Given the description of an element on the screen output the (x, y) to click on. 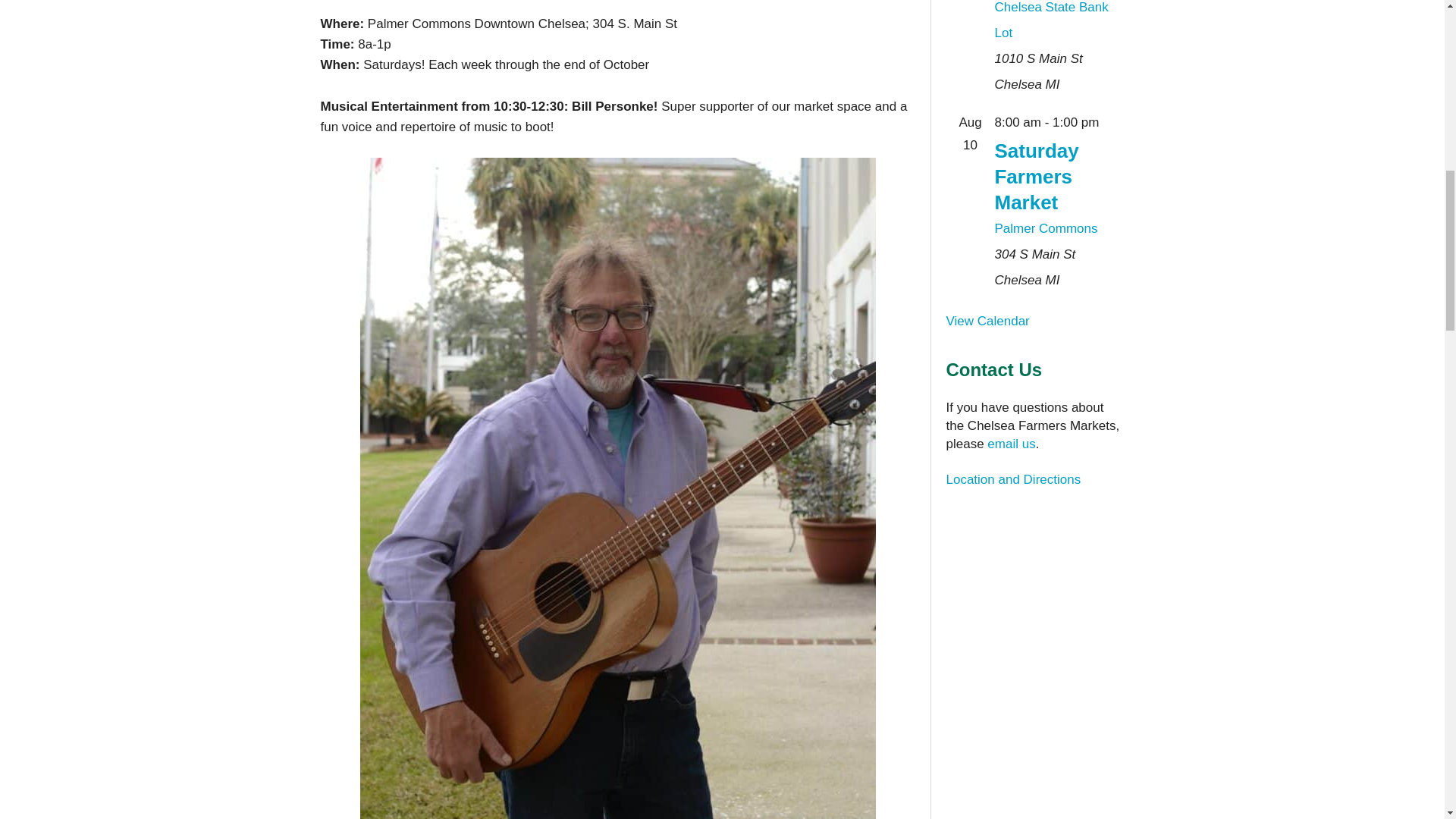
Saturday Farmers Market (1036, 176)
View Calendar (987, 320)
Event Series (1107, 121)
email us (1011, 443)
View more events. (987, 320)
Saturday Farmers Market (1036, 176)
Palmer Commons (1045, 228)
Location and Directions (1013, 479)
Chelsea State Bank Lot (1051, 20)
